Given the description of an element on the screen output the (x, y) to click on. 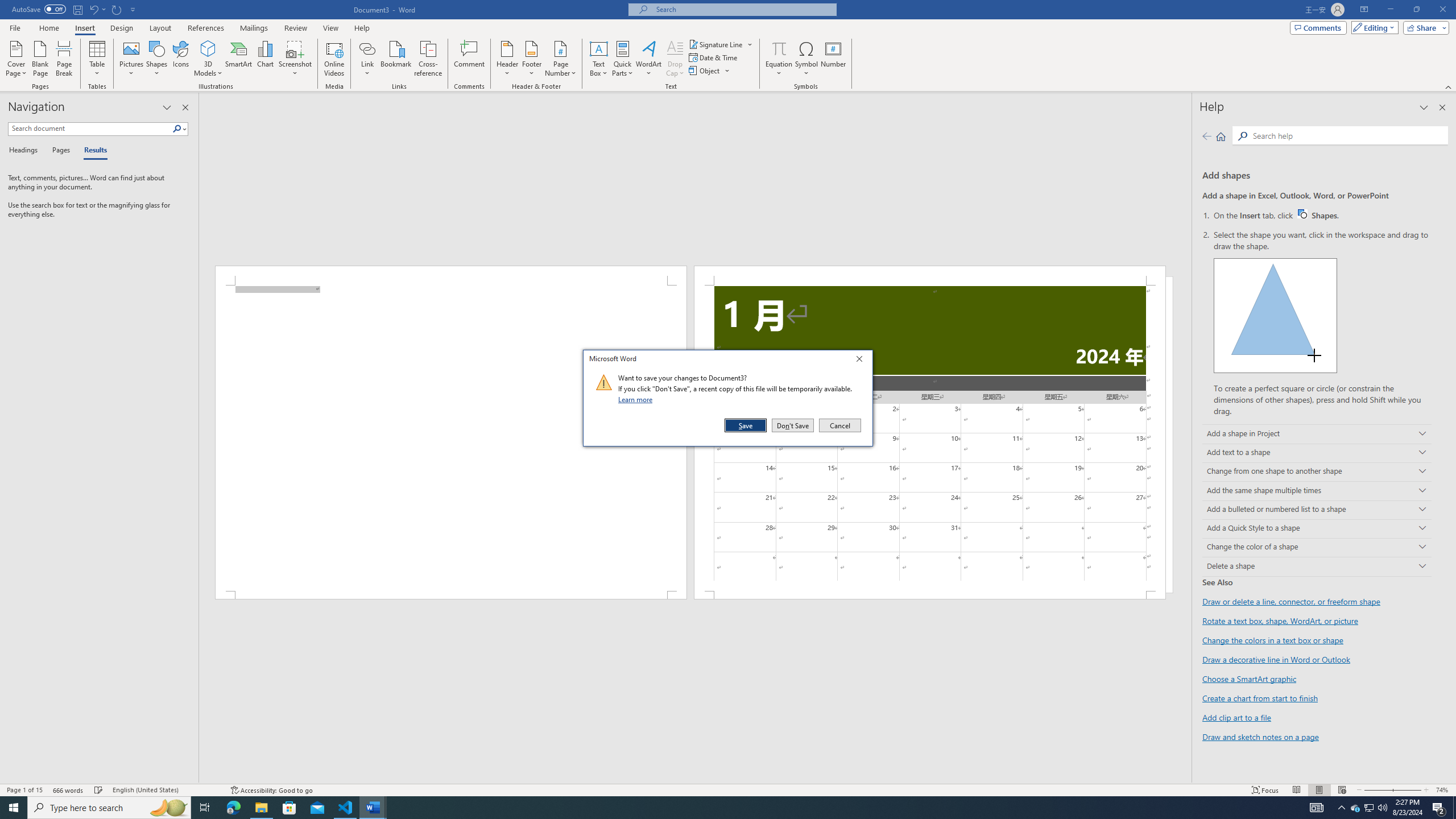
Visual Studio Code - 1 running window (345, 807)
Change from one shape to another shape (1316, 471)
Draw or delete a line, connector, or freeform shape (1291, 601)
Header -Section 1- (930, 275)
Page Break (63, 58)
File Explorer - 1 running window (261, 807)
Microsoft Store (289, 807)
Drawing a shape (1275, 315)
